Given the description of an element on the screen output the (x, y) to click on. 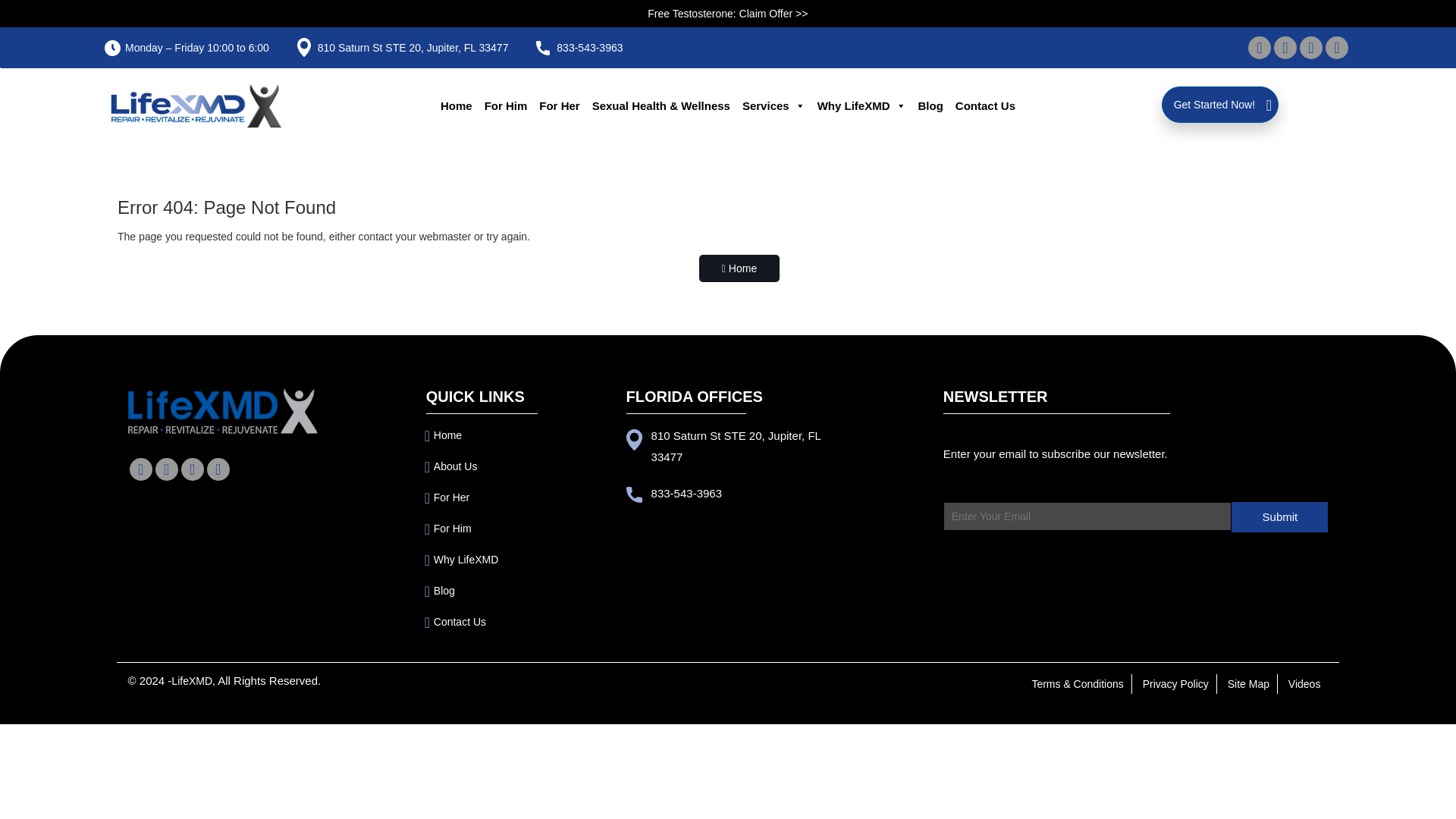
Home (456, 106)
Submit (1279, 517)
Twitter (1284, 47)
YouTube (1336, 47)
For Her (558, 106)
Facebook (140, 468)
YouTube (1336, 47)
LinkedIn (1311, 47)
833-543-3963 (589, 47)
Home (447, 435)
Why LifeXMD (861, 106)
Facebook (1259, 47)
For Him (506, 106)
Facebook (140, 468)
LinkedIn (191, 468)
